Given the description of an element on the screen output the (x, y) to click on. 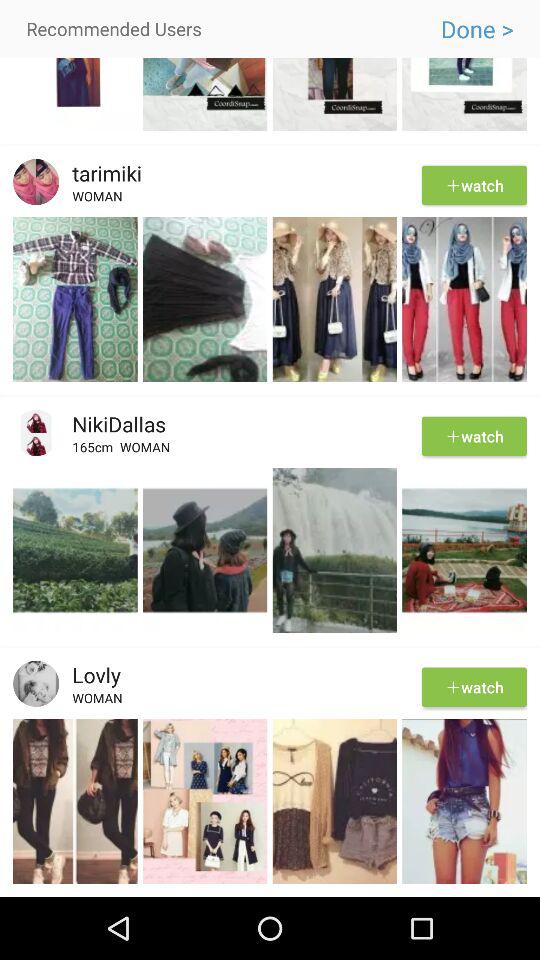
jump to lovly app (90, 674)
